Given the description of an element on the screen output the (x, y) to click on. 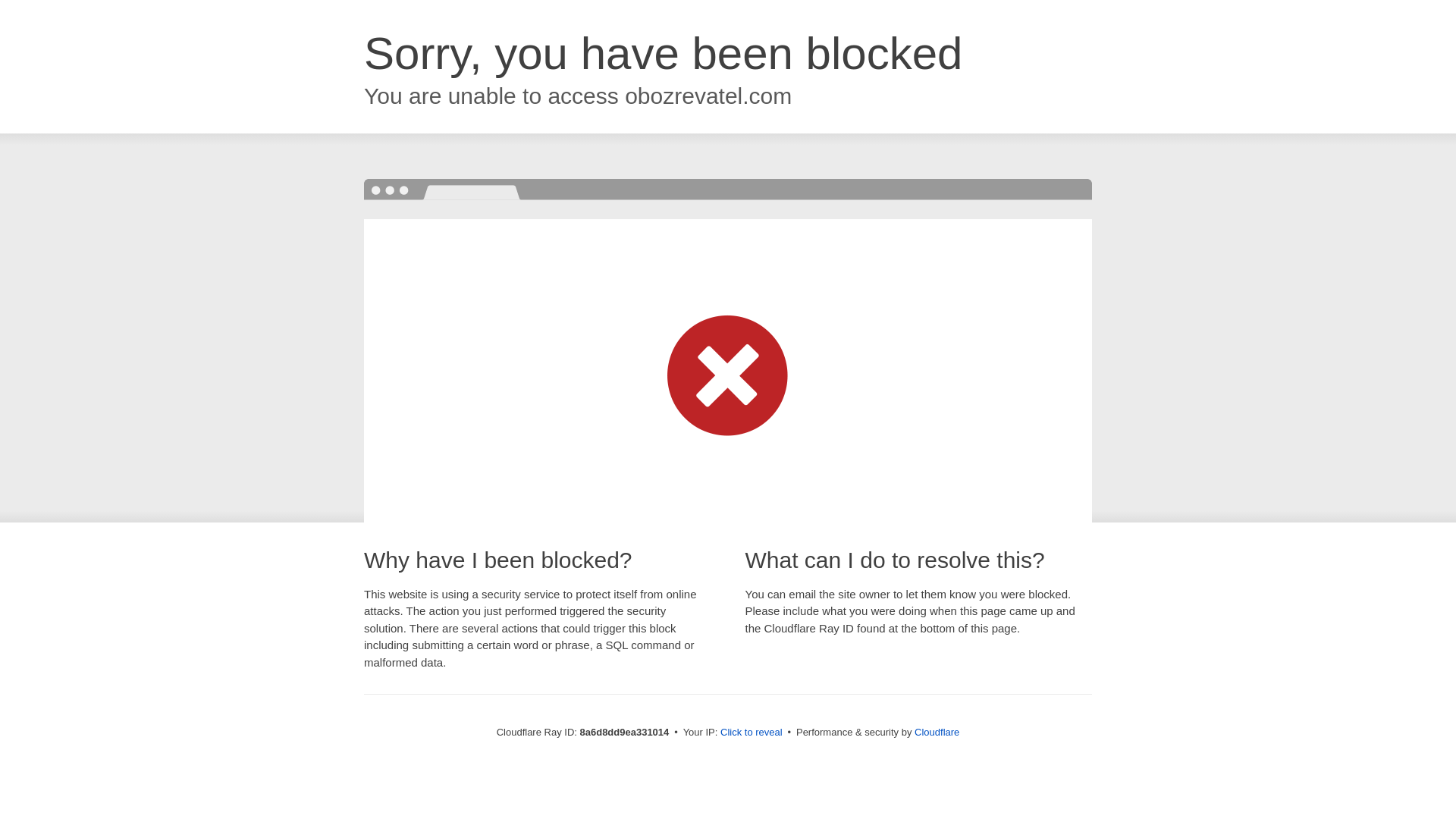
Cloudflare (936, 731)
Click to reveal (751, 732)
